Given the description of an element on the screen output the (x, y) to click on. 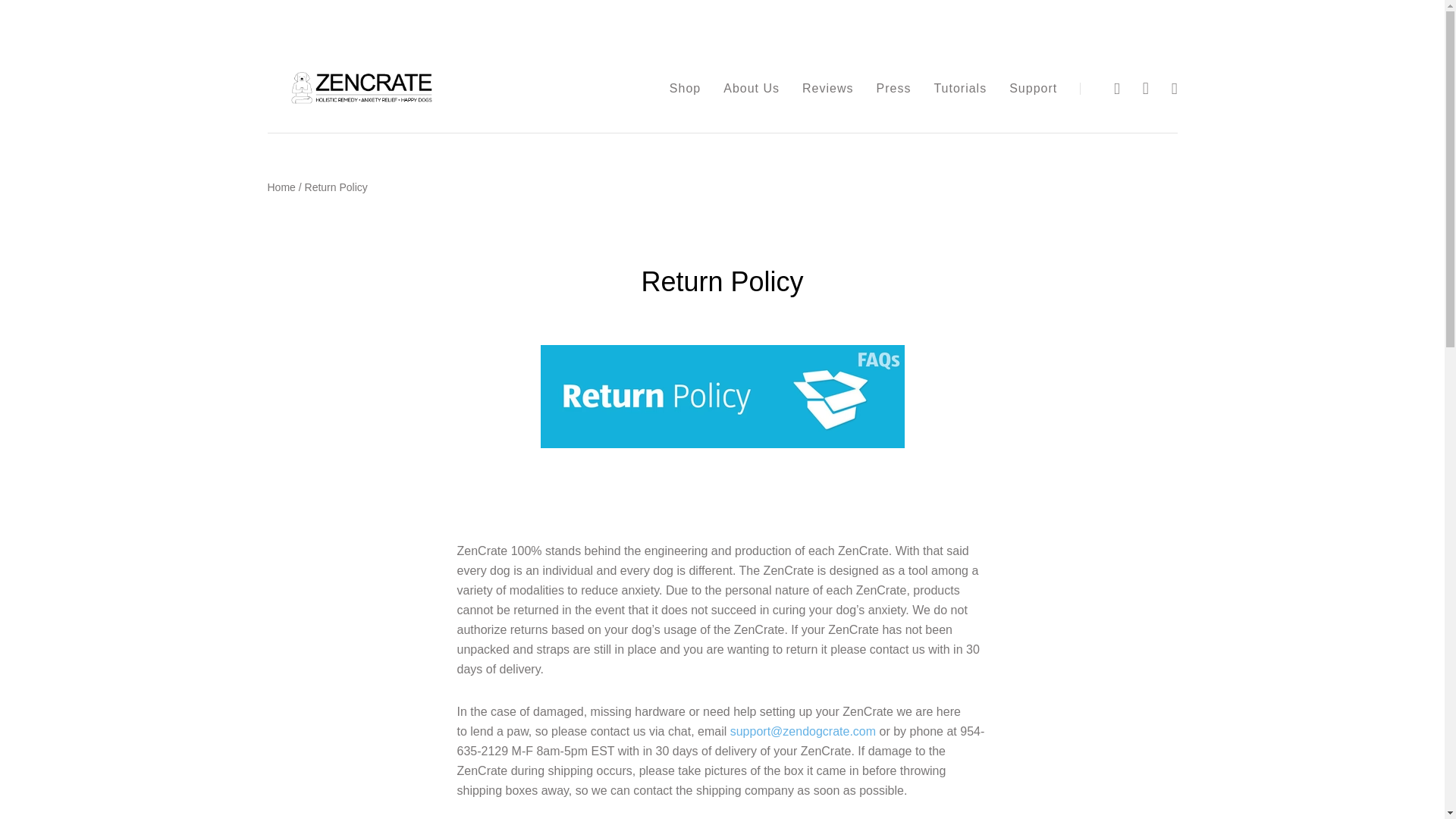
Press (893, 88)
Support (1033, 88)
About Us (750, 88)
ZenCrate Support Email (803, 730)
Reviews (827, 88)
Tutorials (960, 88)
Shop (684, 88)
